Given the description of an element on the screen output the (x, y) to click on. 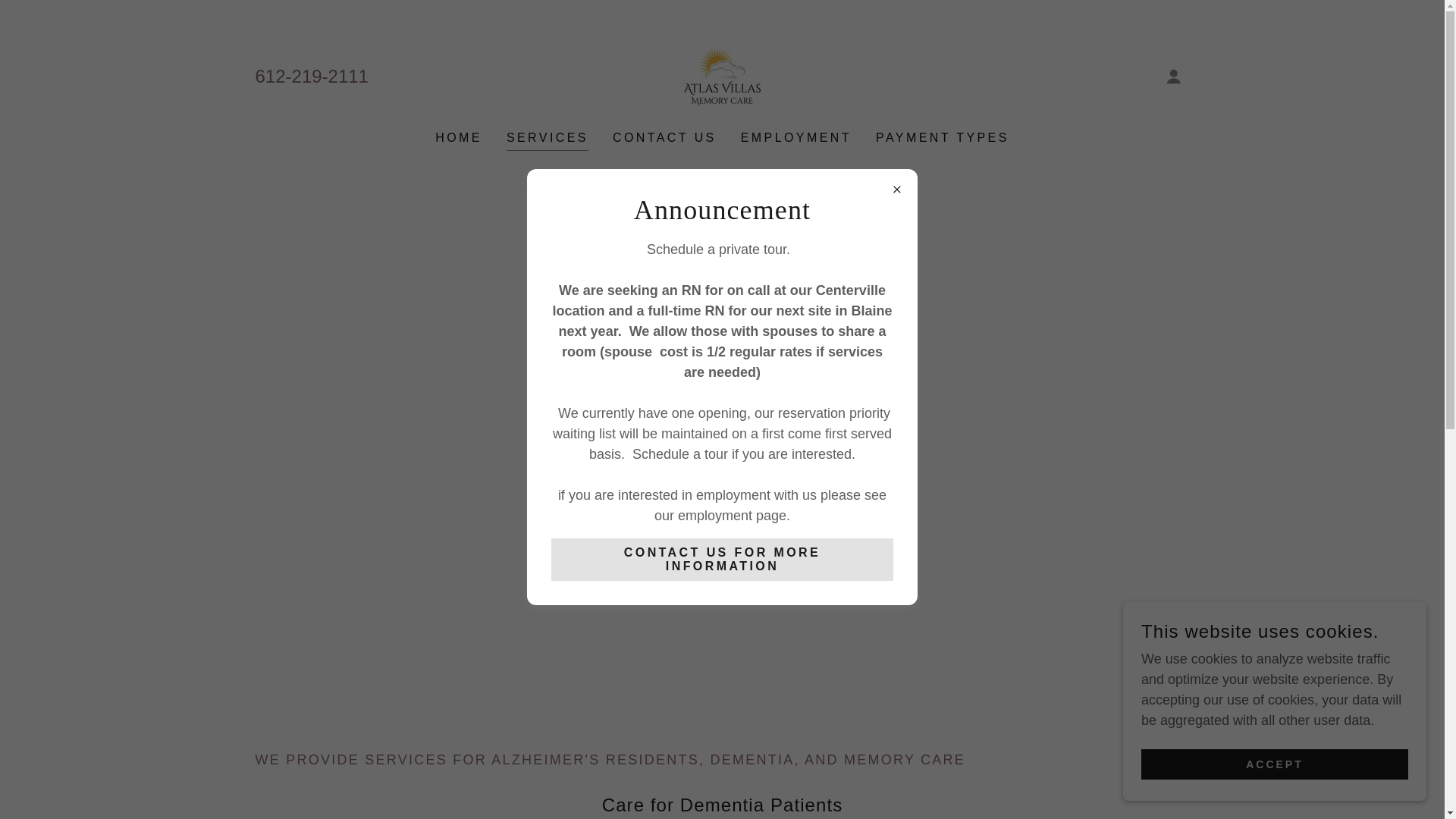
HOME (458, 137)
CONTACT US FOR MORE INFORMATION (722, 559)
ACCEPT (1274, 764)
612-219-2111 (311, 76)
PAYMENT TYPES (941, 137)
SERVICES (547, 139)
Atlas Villas Memory Care (721, 75)
EMPLOYMENT (796, 137)
CONTACT US (664, 137)
